Given the description of an element on the screen output the (x, y) to click on. 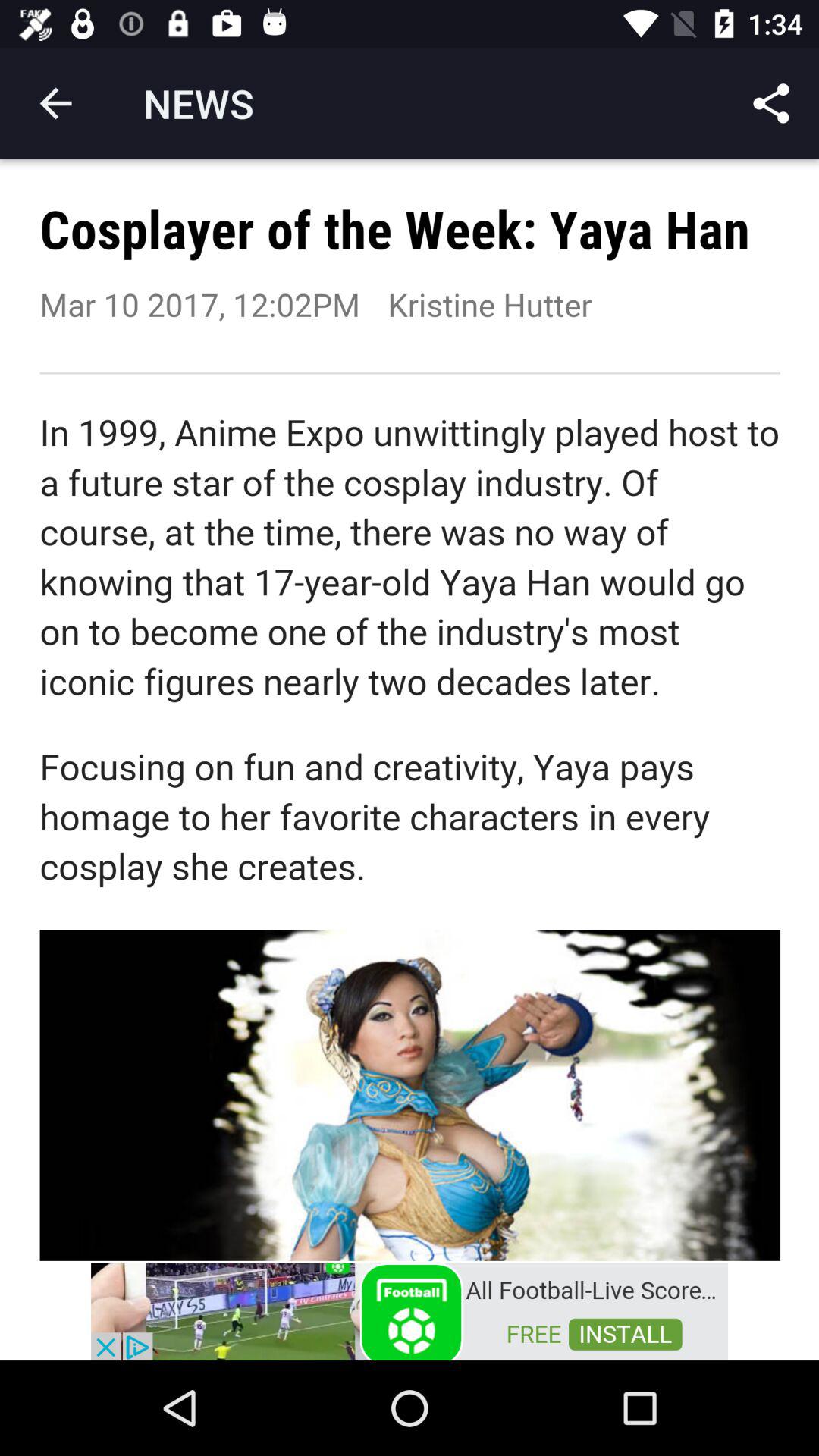
news panel (409, 709)
